Given the description of an element on the screen output the (x, y) to click on. 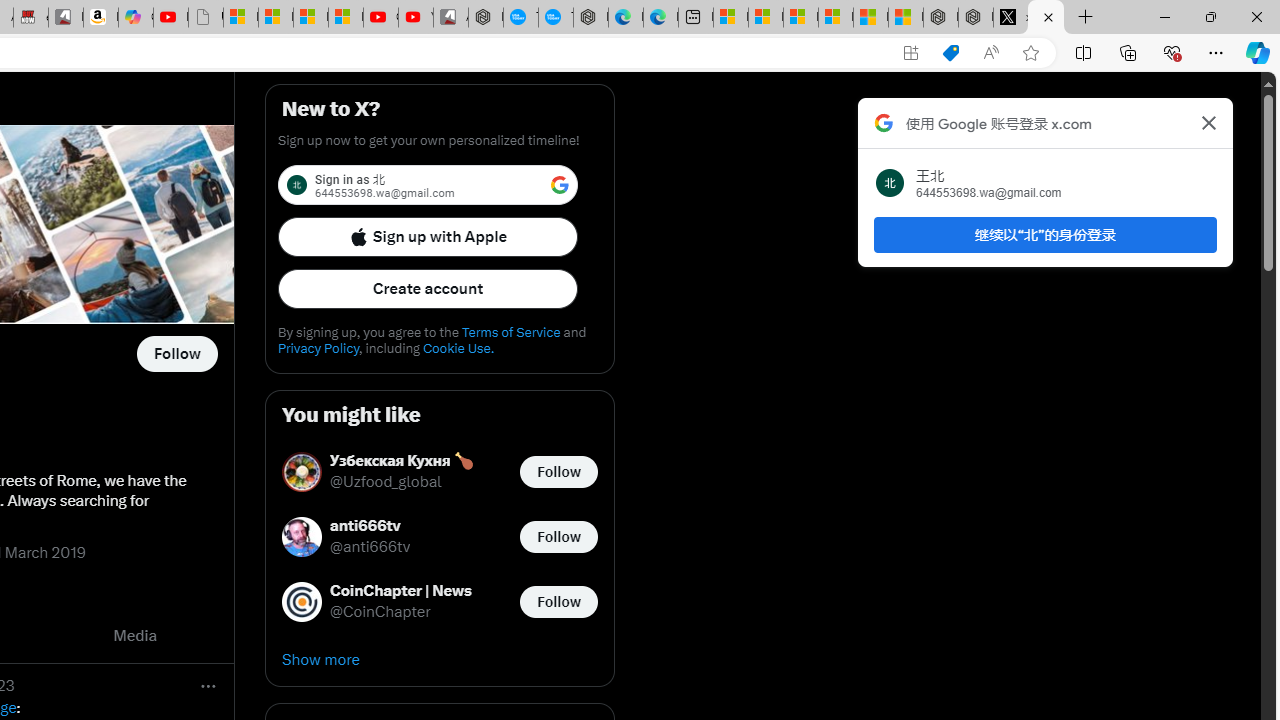
Terms of Service (510, 331)
Class: LgbsSe-Bz112c (559, 184)
Untitled (205, 17)
Cookie Use. (458, 348)
Follow @CoinChapter (558, 600)
